Given the description of an element on the screen output the (x, y) to click on. 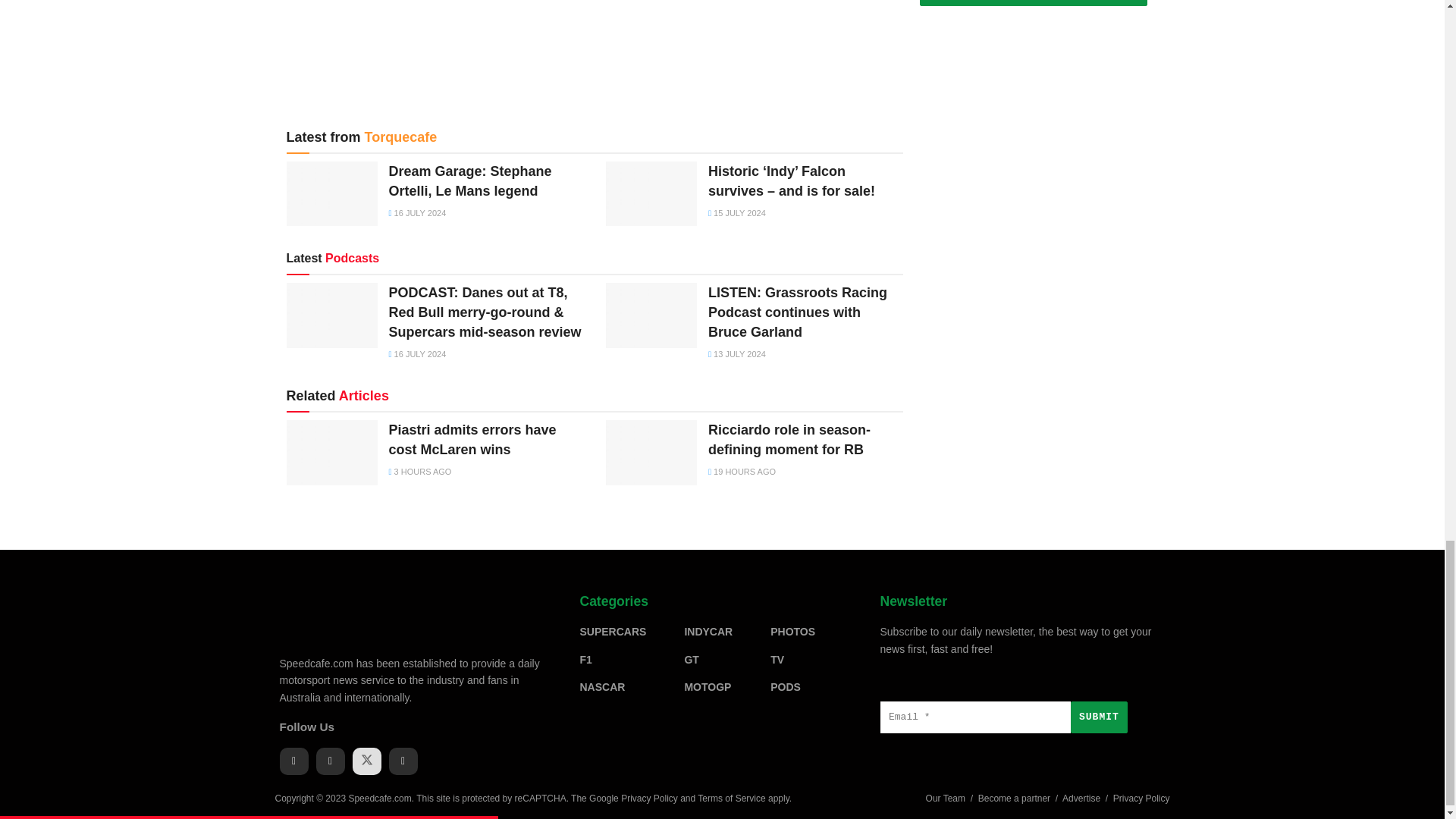
SUBMIT (1098, 717)
SUBMIT (1032, 2)
